Given the description of an element on the screen output the (x, y) to click on. 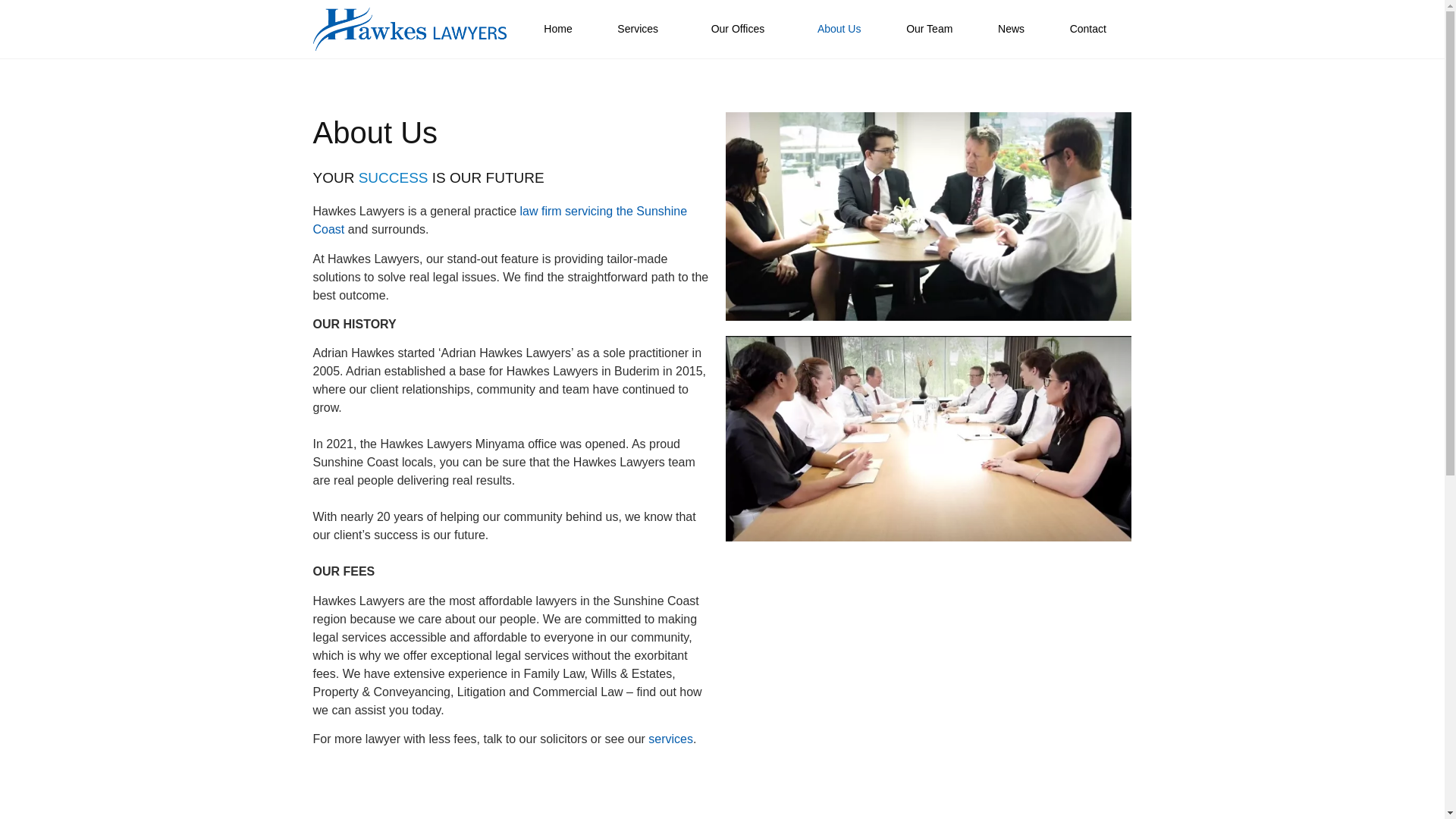
About Us Element type: text (838, 28)
Our Offices Element type: text (741, 28)
News Element type: text (1011, 28)
Home Element type: text (558, 28)
Our Team Element type: text (929, 28)
Contact Element type: text (1088, 28)
Services Element type: text (641, 28)
services Element type: text (670, 738)
law firm servicing the Sunshine Coast Element type: text (499, 219)
